Given the description of an element on the screen output the (x, y) to click on. 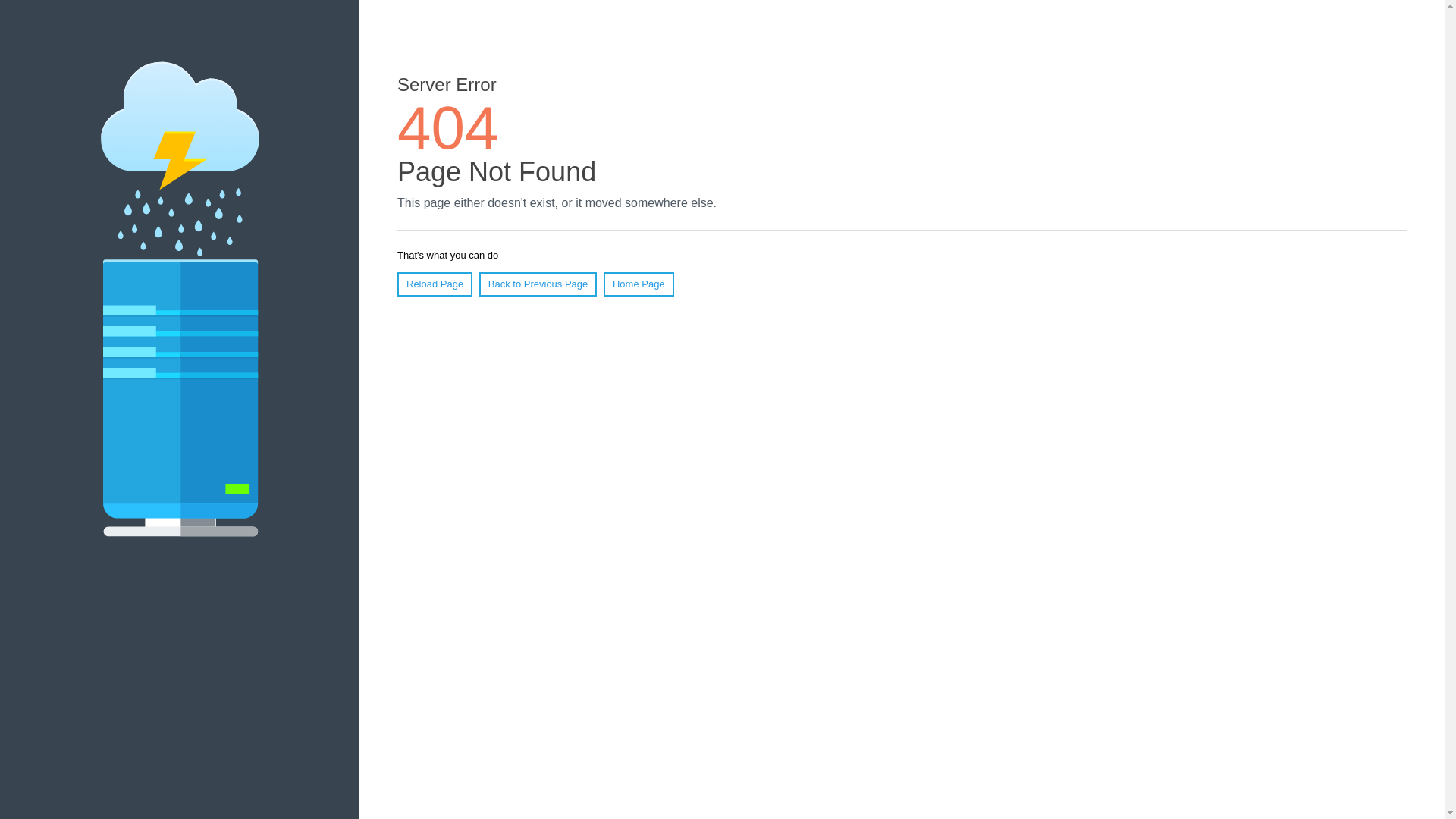
Reload Page Element type: text (434, 284)
Home Page Element type: text (638, 284)
Back to Previous Page Element type: text (538, 284)
